Given the description of an element on the screen output the (x, y) to click on. 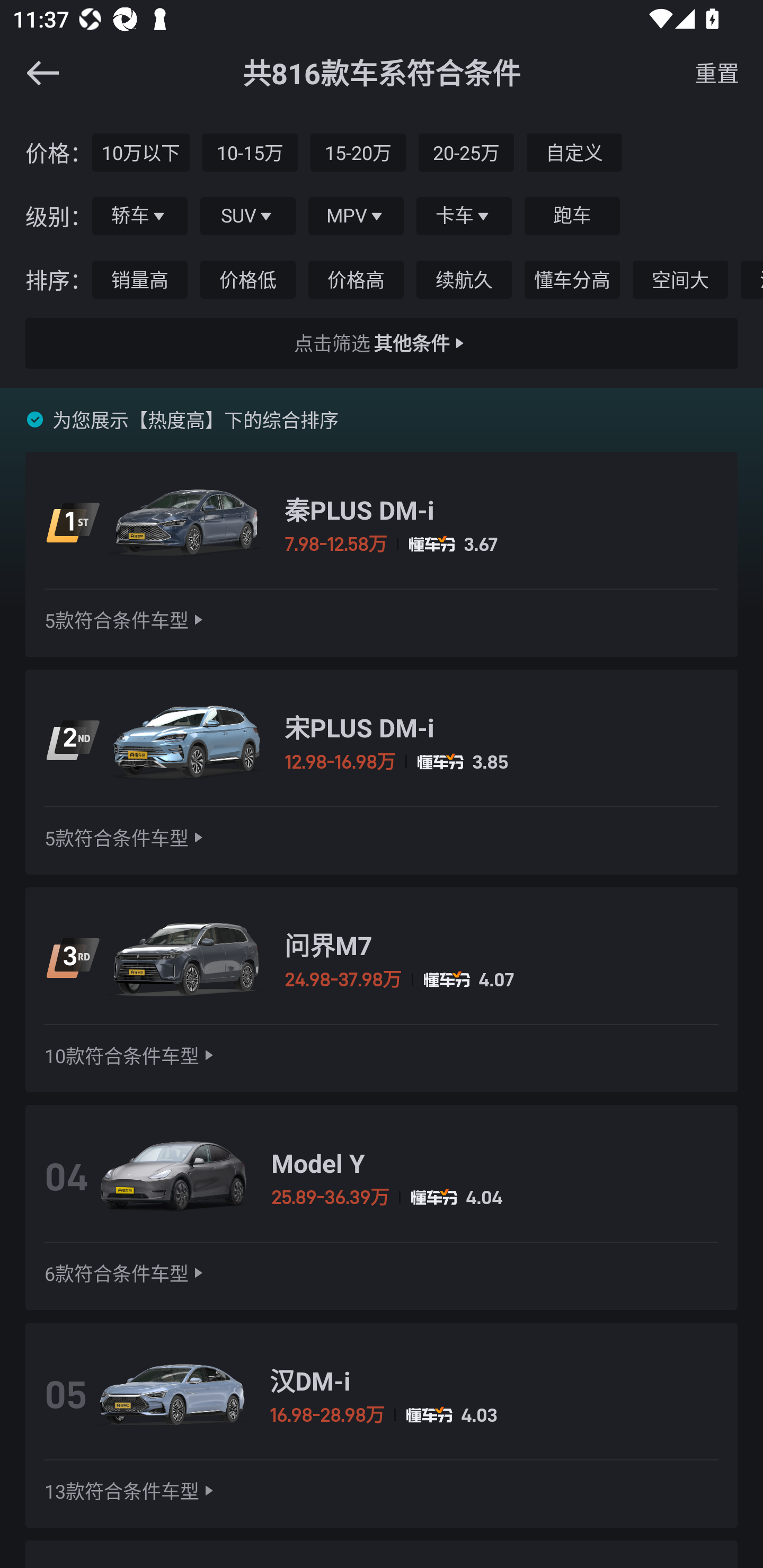
重置 (716, 72)
 (42, 72)
10万以下 (140, 151)
10-15万 (249, 151)
15-20万 (357, 151)
20-25万 (466, 151)
自定义 (573, 151)
轿车 (139, 216)
SUV (247, 216)
MPV (355, 216)
卡车 (463, 216)
跑车 (571, 216)
销量高 (139, 279)
价格低 (247, 279)
价格高 (355, 279)
续航久 (463, 279)
懂车分高 (571, 279)
空间大 (679, 279)
点击筛选 其他条件  (381, 343)
秦PLUS DM-i 7.98-12.58万 3.67 5款符合条件车型  (381, 553)
7.98-12.58万 3.67 (501, 544)
5款符合条件车型  (125, 619)
宋PLUS DM-i 12.98-16.98万 3.85 5款符合条件车型  (381, 771)
12.98-16.98万 3.85 (501, 762)
5款符合条件车型  (125, 837)
问界M7 24.98-37.98万 4.07 10款符合条件车型  (381, 989)
24.98-37.98万 4.07 (501, 979)
10款符合条件车型  (131, 1054)
04 Model Y 25.89-36.39万 4.04 6款符合条件车型  (381, 1207)
25.89-36.39万 4.04 (494, 1196)
6款符合条件车型  (125, 1272)
05 汉DM-i 16.98-28.98万 4.03 13款符合条件车型  (381, 1425)
16.98-28.98万 4.03 (493, 1414)
13款符合条件车型  (131, 1490)
